Given the description of an element on the screen output the (x, y) to click on. 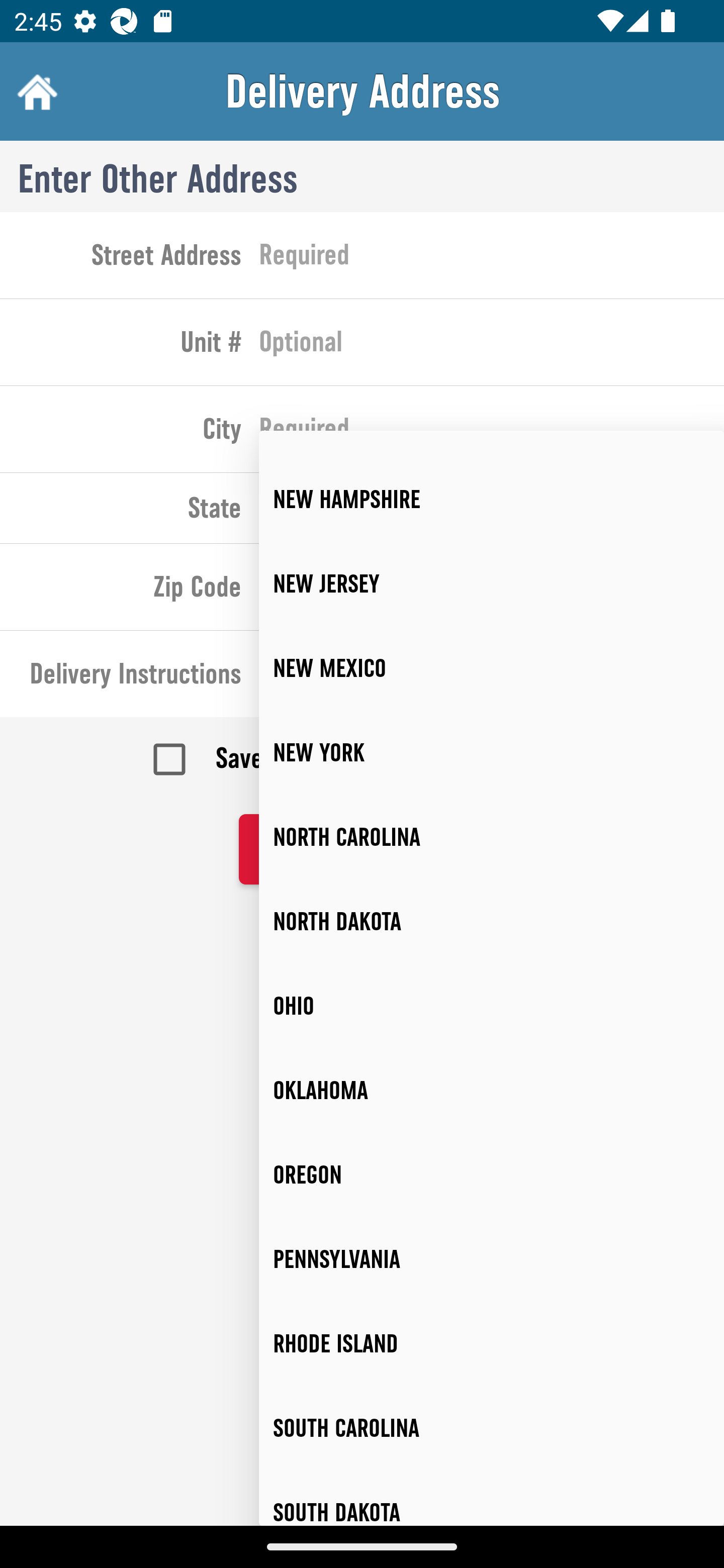
NEW HAMPSHIRE (491, 499)
NEW JERSEY (491, 583)
NEW MEXICO (491, 667)
NEW YORK (491, 752)
NORTH CAROLINA (491, 836)
NORTH DAKOTA (491, 921)
OHIO (491, 1006)
OKLAHOMA (491, 1090)
OREGON (491, 1174)
PENNSYLVANIA (491, 1258)
RHODE ISLAND (491, 1343)
SOUTH CAROLINA (491, 1428)
SOUTH DAKOTA (491, 1497)
